Given the description of an element on the screen output the (x, y) to click on. 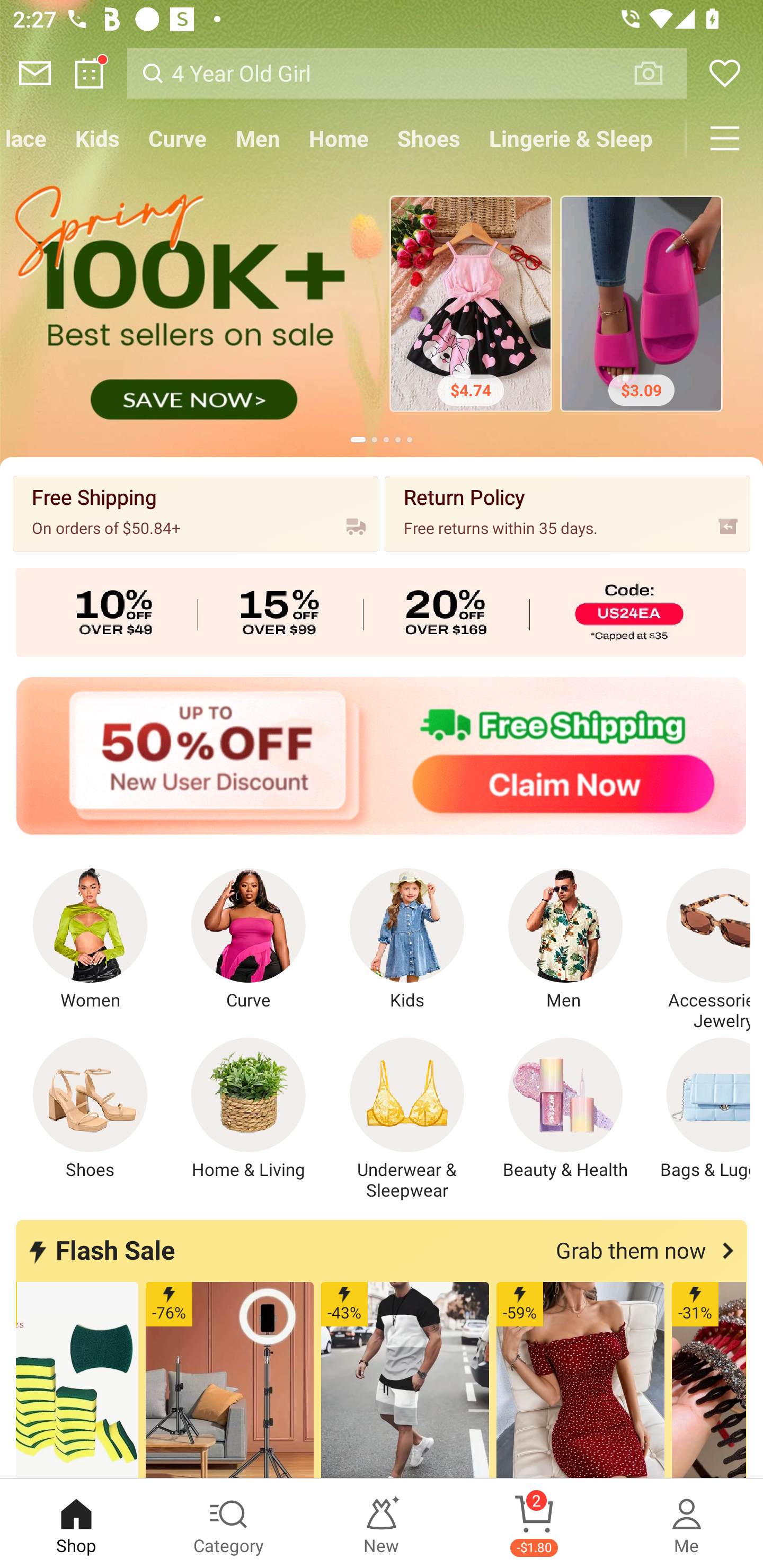
Wishlist (724, 72)
VISUAL SEARCH (657, 72)
Marketplace (30, 137)
Kids (97, 137)
Curve (177, 137)
Men (257, 137)
Home (338, 137)
Shoes (428, 137)
Lingerie & Sleep (570, 137)
$4.74 $3.09 (381, 307)
Free Shipping On orders of $50.84+ (195, 513)
Return Policy Free returns within 35 days. (567, 513)
Women (89, 939)
Curve (248, 939)
Kids (406, 939)
Men  (565, 939)
Accessories & Jewelry (698, 949)
Shoes (89, 1109)
Home & Living (248, 1109)
Underwear & Sleepwear (406, 1119)
Beauty & Health (565, 1109)
Bags & Luggage (698, 1109)
Category (228, 1523)
New (381, 1523)
Cart 2 -$1.80 (533, 1523)
Me (686, 1523)
